Given the description of an element on the screen output the (x, y) to click on. 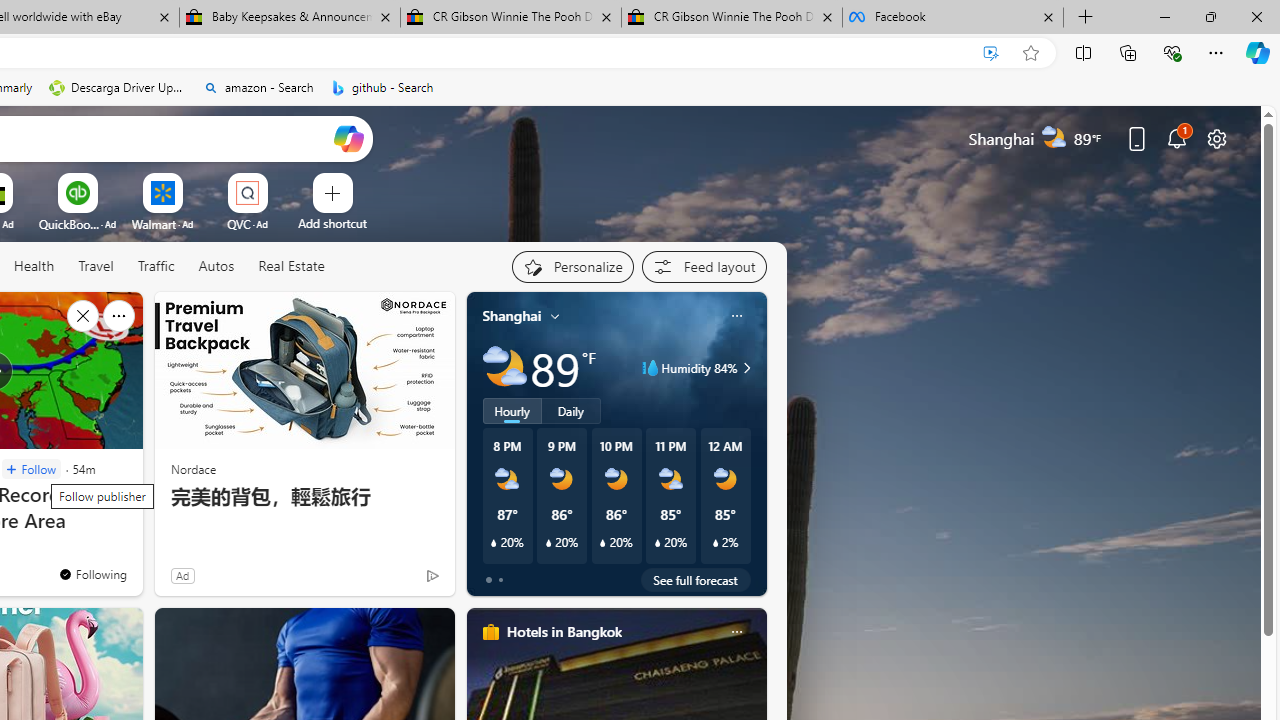
Partly cloudy (504, 368)
More Options (279, 179)
Descarga Driver Updater (118, 88)
Real Estate (290, 267)
github - Search (381, 88)
Hide this story (82, 315)
Daily (571, 411)
Autos (215, 265)
Class: icon-img (736, 632)
